Given the description of an element on the screen output the (x, y) to click on. 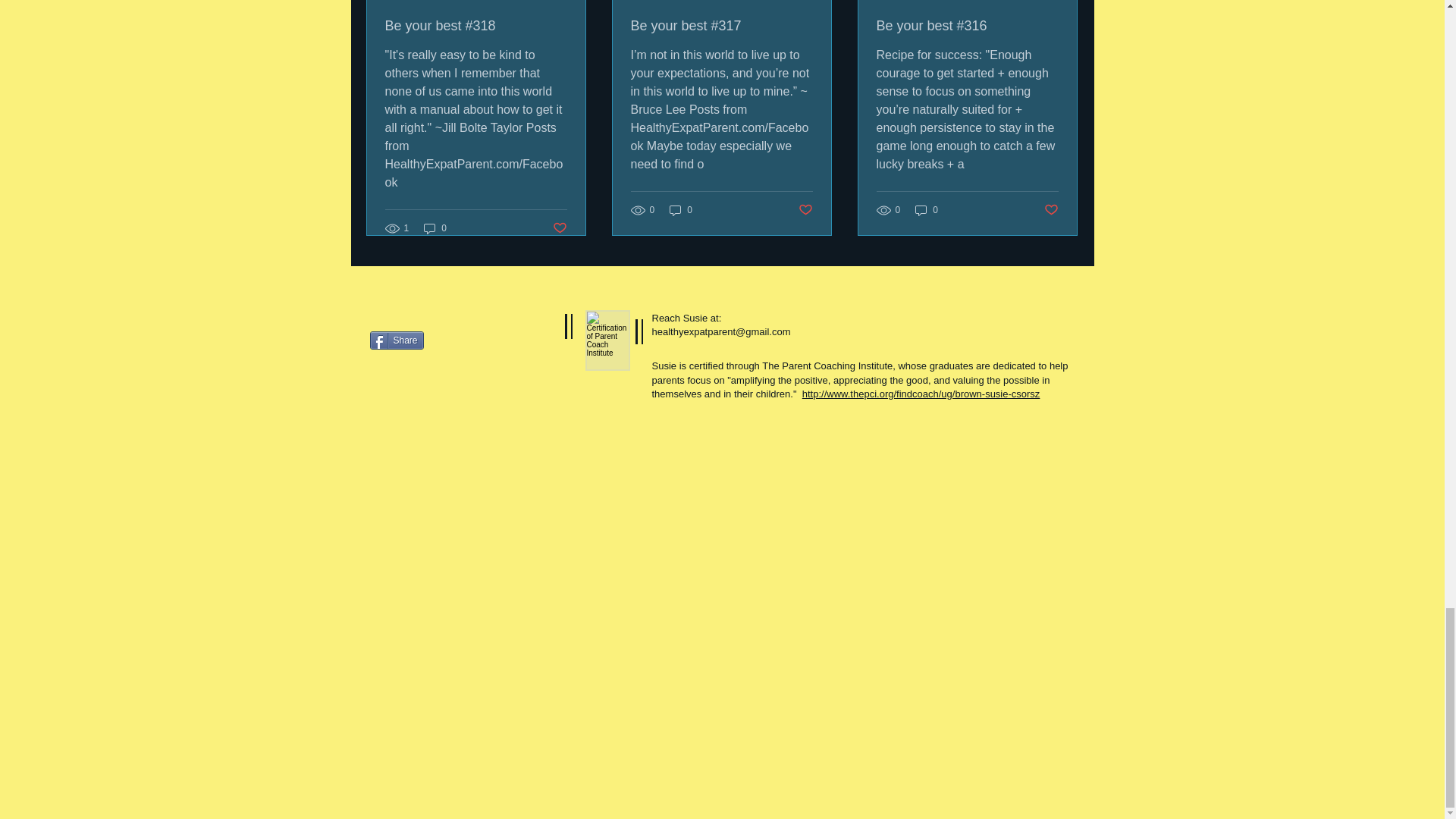
Share (396, 340)
Facebook Like (464, 385)
